Given the description of an element on the screen output the (x, y) to click on. 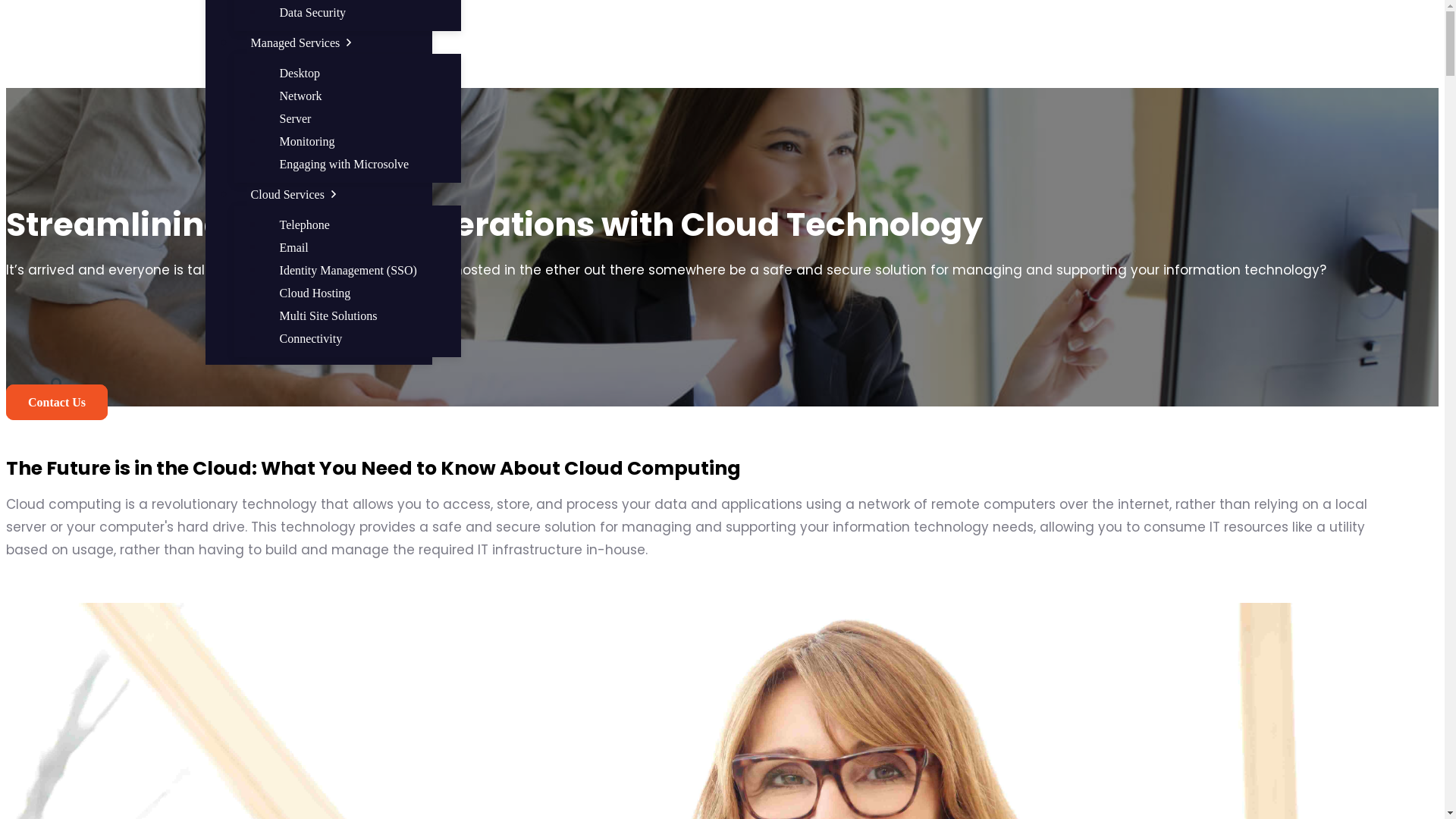
Engaging with Microsolve Element type: text (344, 164)
Server Element type: text (295, 118)
Email Element type: text (293, 247)
Desktop Element type: text (299, 73)
Multi Site Solutions Element type: text (328, 315)
Monitoring Element type: text (307, 141)
Cloud Hosting Element type: text (315, 293)
Cloud Services Element type: text (294, 194)
Connectivity Element type: text (310, 338)
Managed Services Element type: text (302, 42)
Network Element type: text (300, 95)
Telephone Element type: text (304, 224)
Contact Us Element type: text (56, 402)
Identity Management (SSO) Element type: text (348, 270)
